Given the description of an element on the screen output the (x, y) to click on. 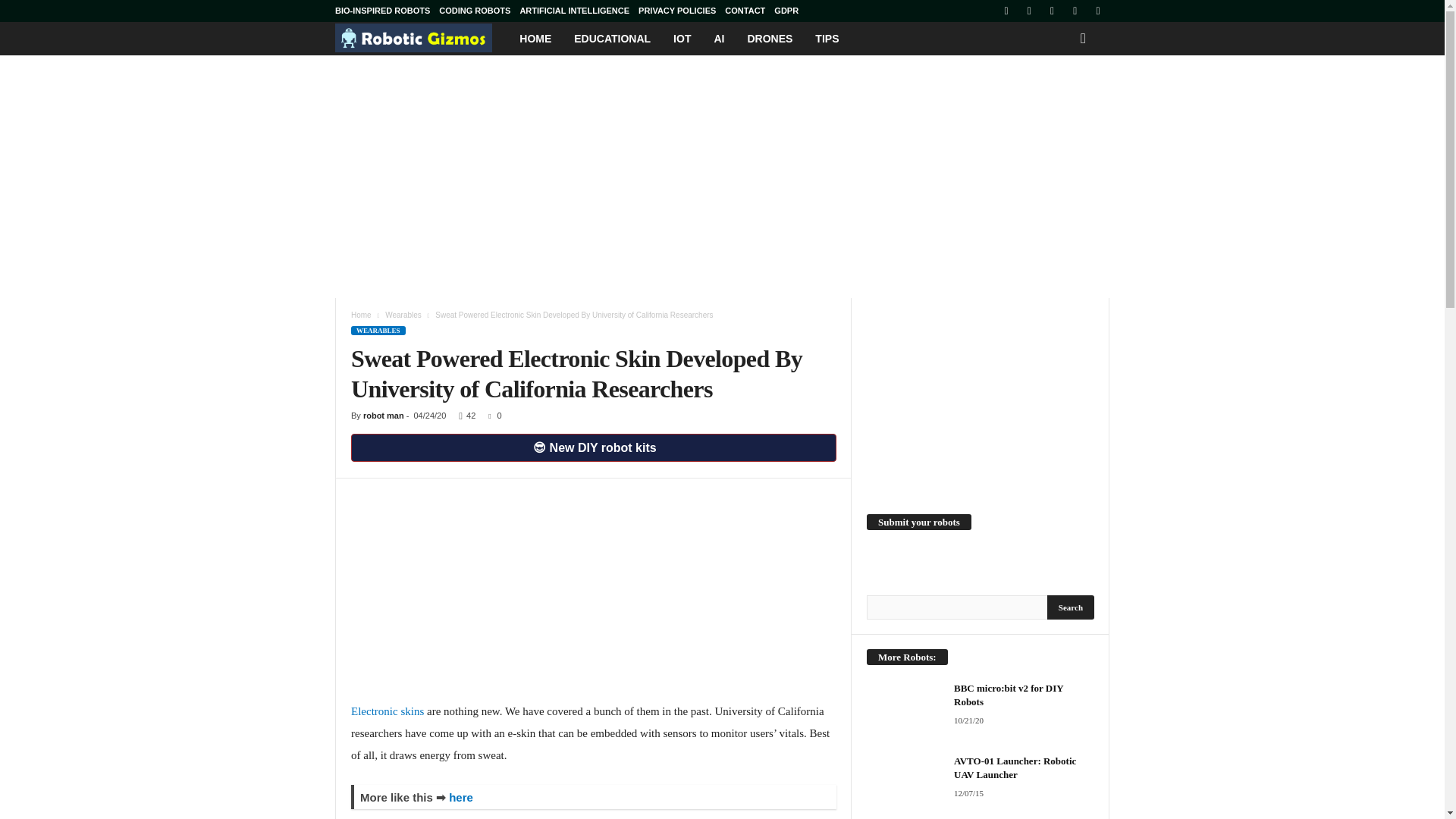
BIO-INSPIRED ROBOTS (381, 10)
CONTACT (745, 10)
Robotic Gizmos (421, 38)
Search (1070, 607)
ARTIFICIAL INTELLIGENCE (573, 10)
PRIVACY POLICIES (677, 10)
HOME (535, 38)
CODING ROBOTS (475, 10)
GDPR (785, 10)
